Given the description of an element on the screen output the (x, y) to click on. 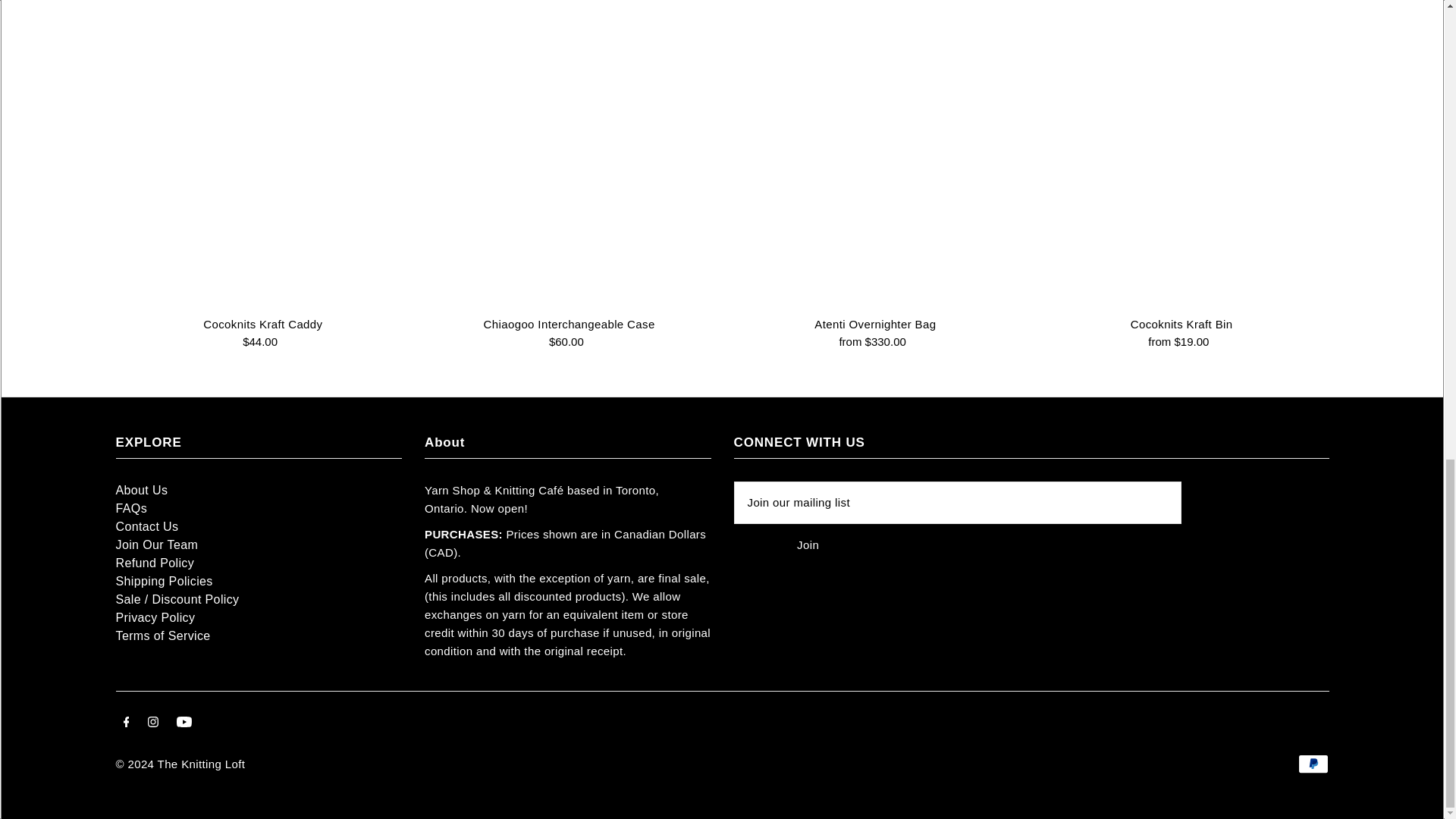
Join (807, 544)
Chiaogoo Interchangeable Case (569, 158)
Cocoknits Kraft Caddy (262, 158)
Cocoknits Kraft Bin (1181, 158)
Atenti Overnighter Bag (875, 158)
